Given the description of an element on the screen output the (x, y) to click on. 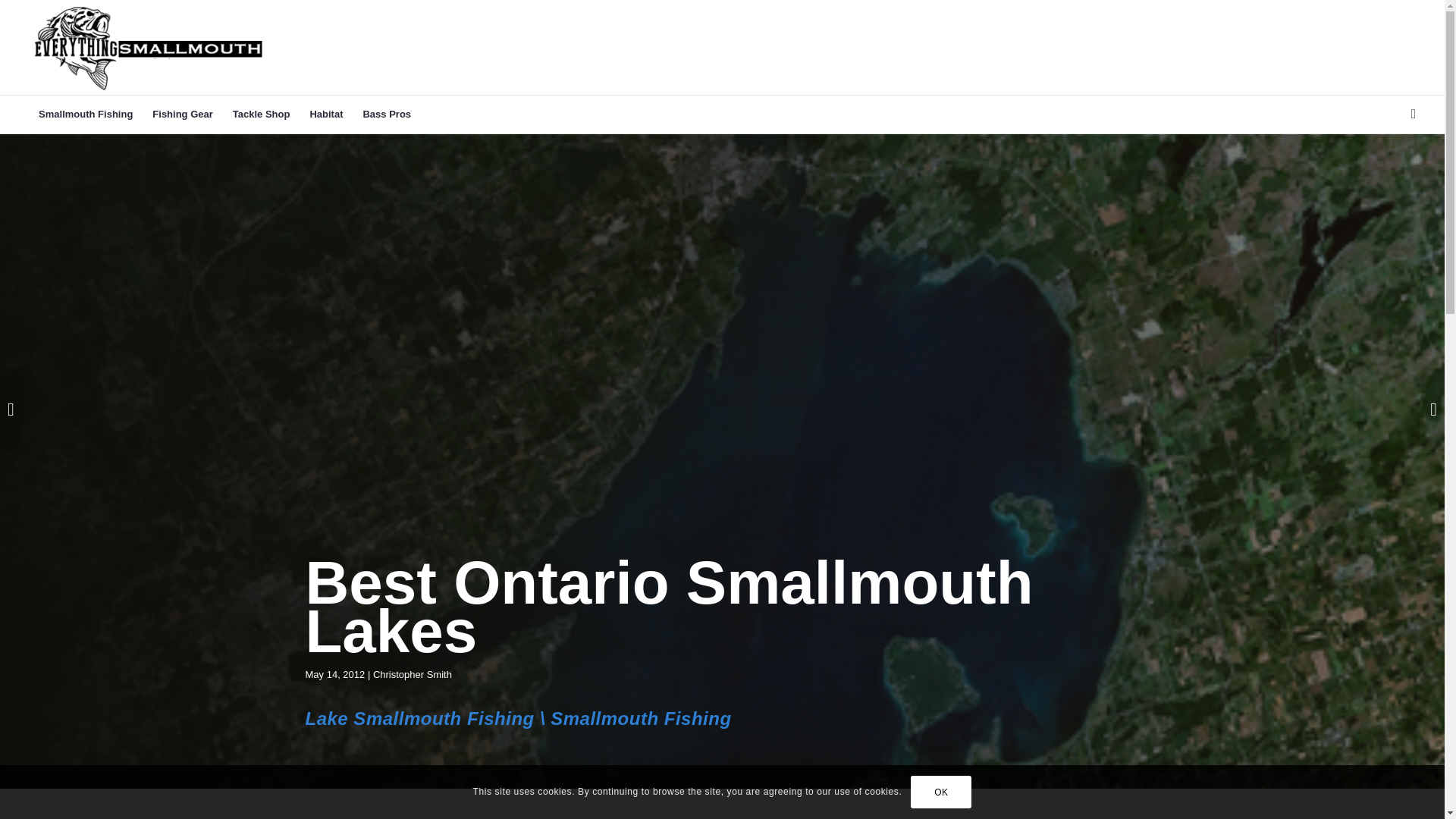
Habitat (325, 114)
OK (941, 791)
Fishing Gear (182, 114)
Bass Pros (386, 114)
Smallmouth Fishing (85, 114)
Tackle Shop (260, 114)
